Given the description of an element on the screen output the (x, y) to click on. 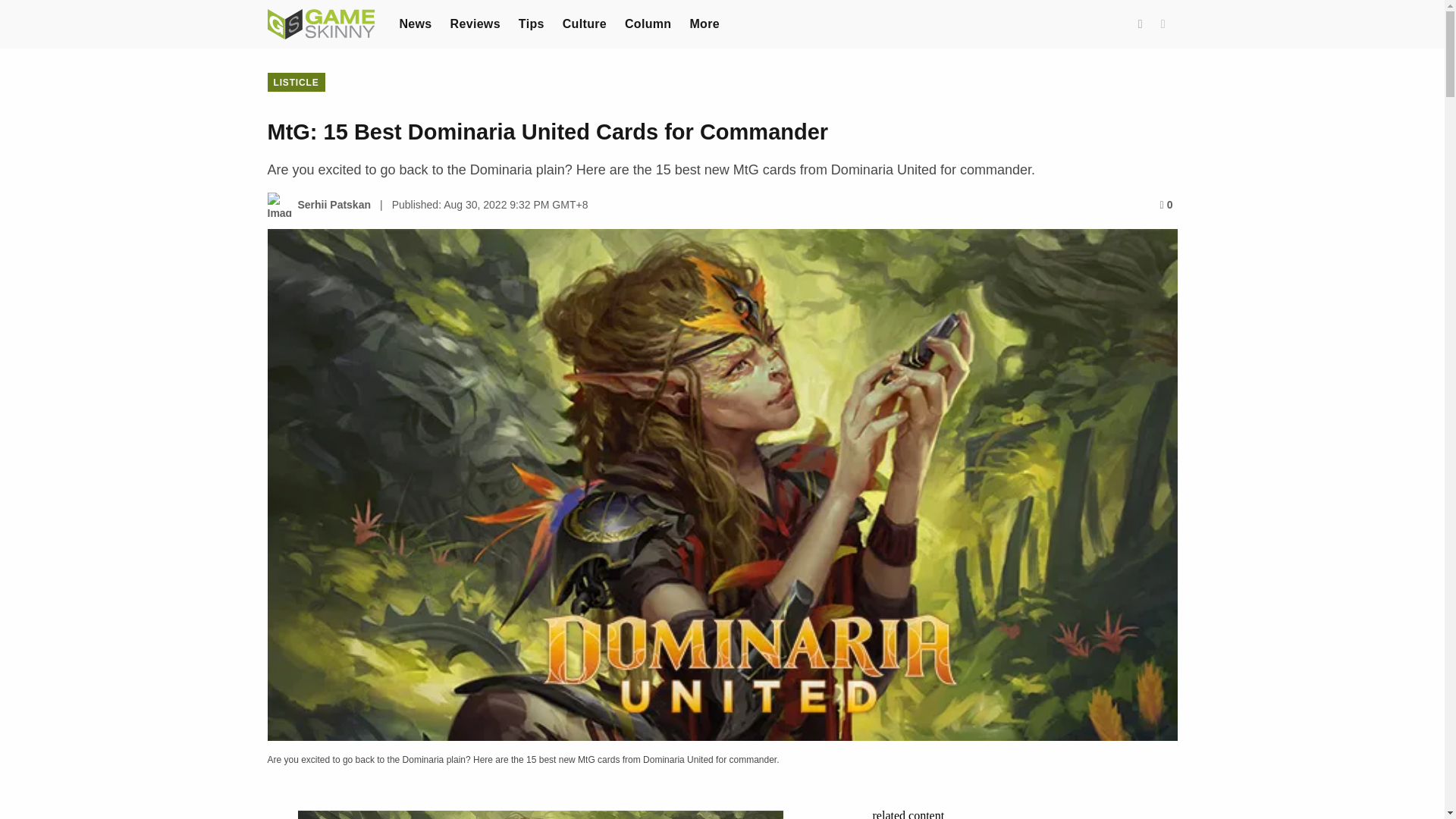
News (414, 23)
Column (647, 23)
Culture (584, 23)
Tips (531, 23)
Reviews (474, 23)
